Given the description of an element on the screen output the (x, y) to click on. 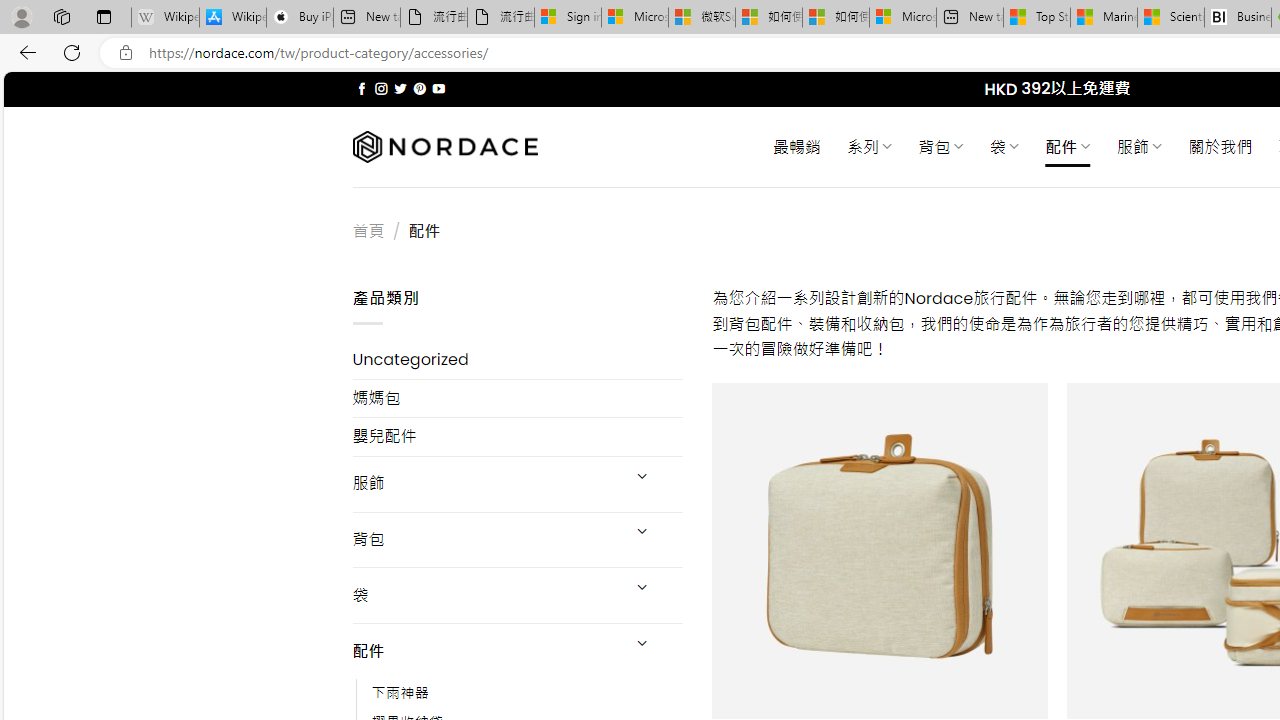
Follow on Instagram (381, 88)
Follow on Facebook (361, 88)
